Given the description of an element on the screen output the (x, y) to click on. 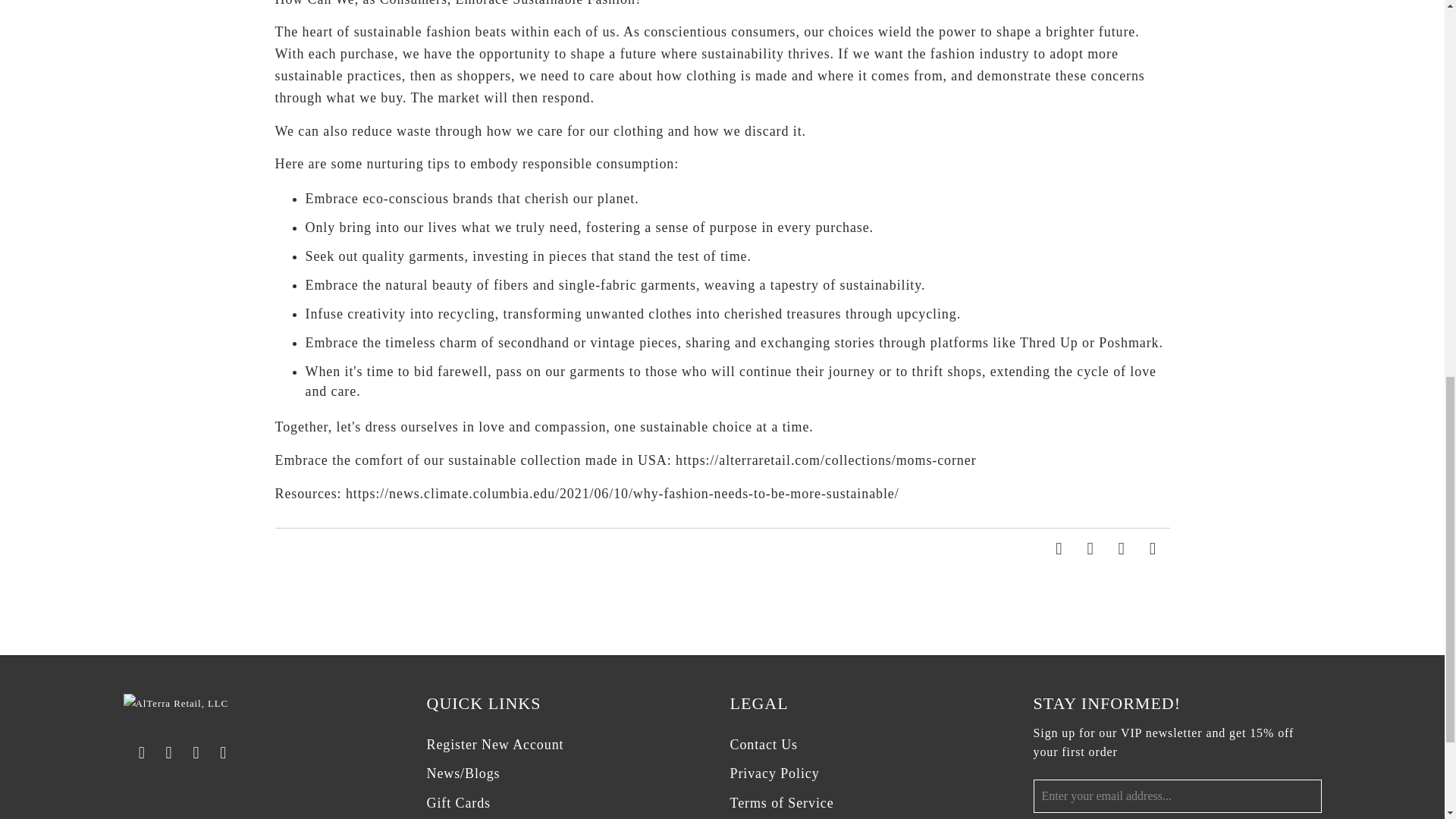
AlTerra Retail, LLC on Facebook (142, 751)
Share this on Pinterest (1121, 549)
AlTerra Retail, LLC on Instagram (169, 751)
AlTerra Retail, LLC on Pinterest (223, 751)
Email this to a friend (1152, 549)
Share this on Instagram (1090, 549)
AlTerra Retail, LLC on LinkedIn (197, 751)
Share this on Facebook (1059, 549)
